Given the description of an element on the screen output the (x, y) to click on. 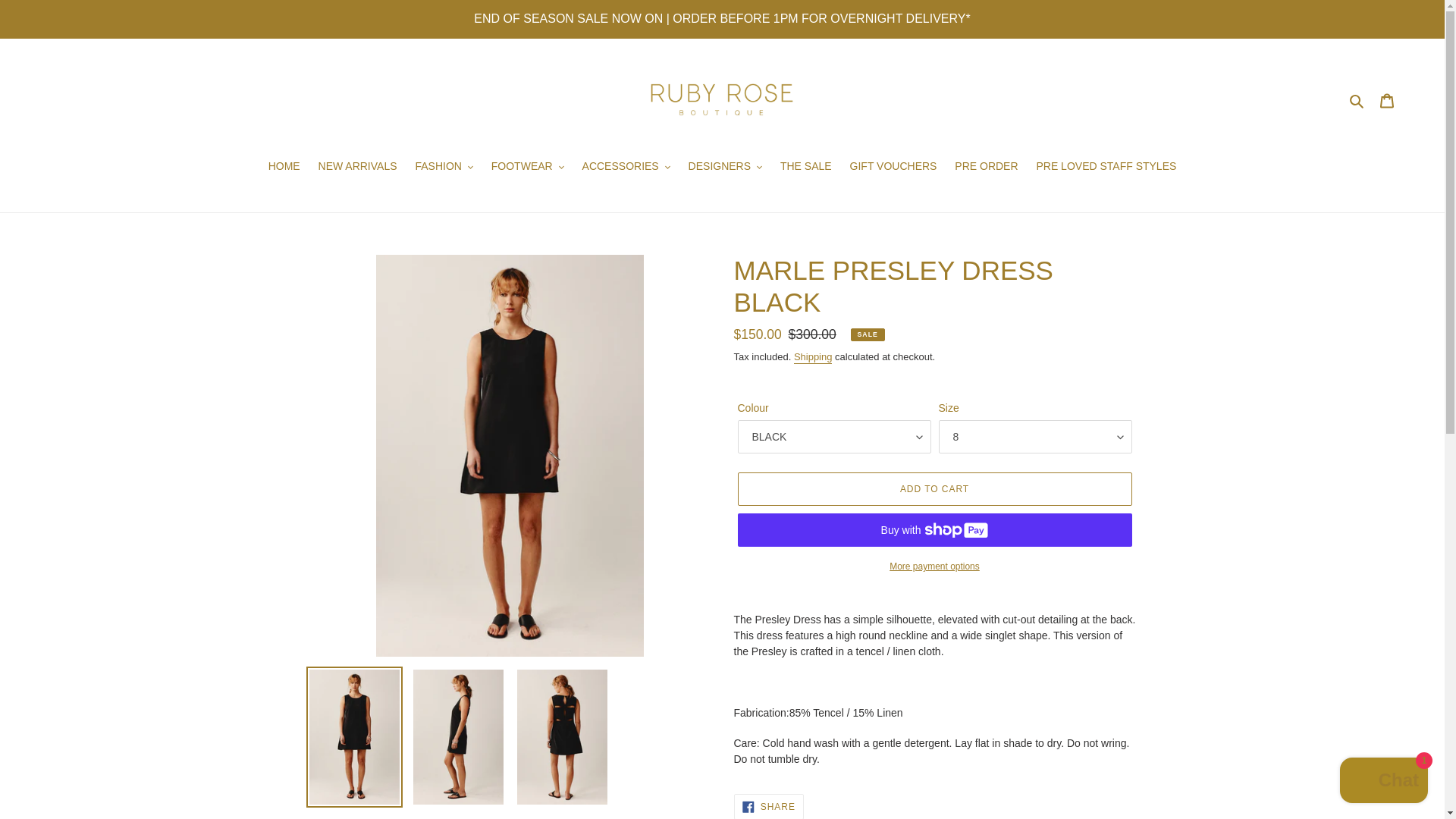
Shopify online store chat (1383, 781)
Search (1357, 99)
Cart (1387, 100)
